Given the description of an element on the screen output the (x, y) to click on. 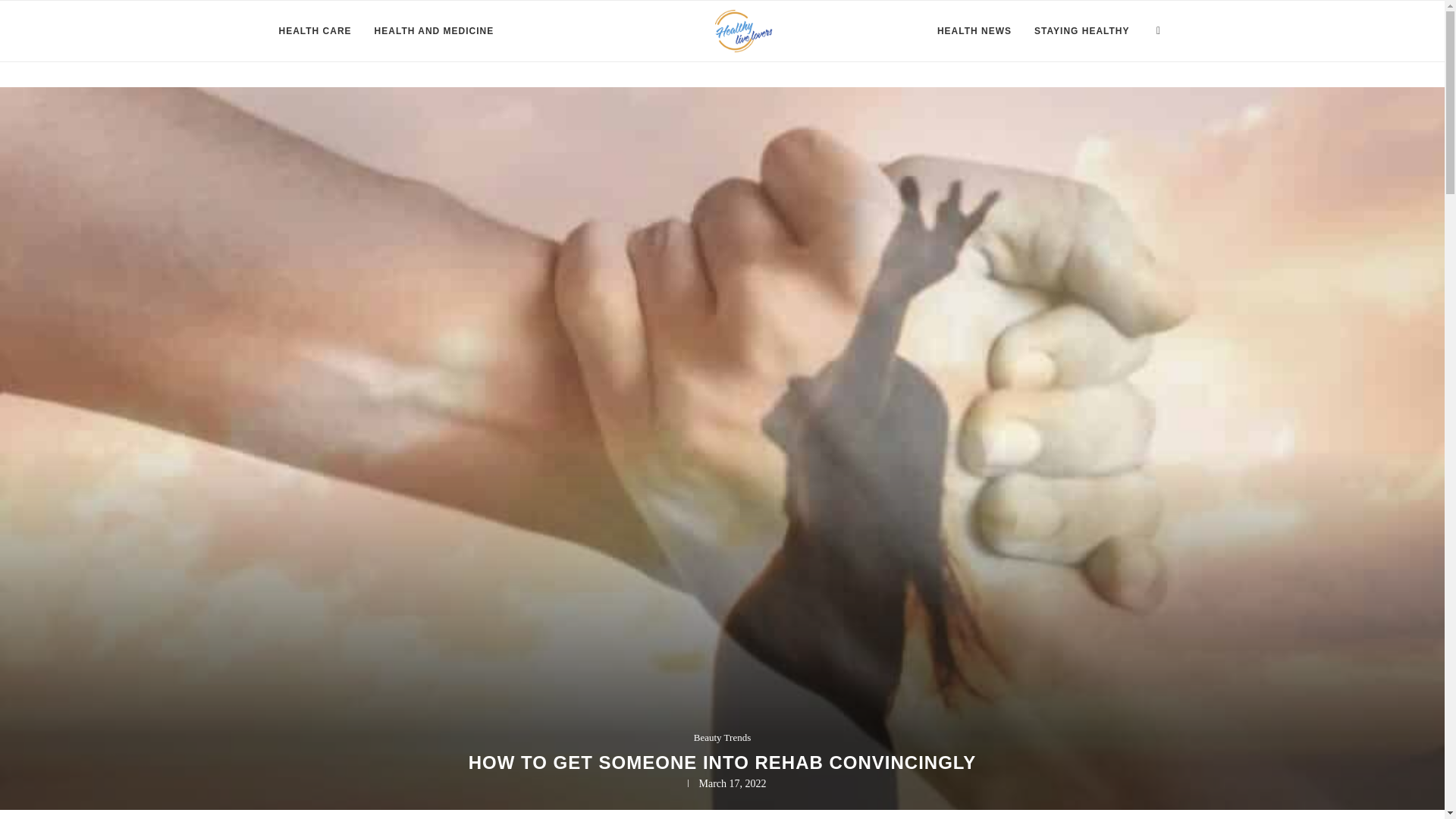
HEALTH NEWS (974, 30)
STAYING HEALTHY (1081, 30)
HEALTH AND MEDICINE (434, 30)
Beauty Trends (722, 737)
HEALTH CARE (315, 30)
